Given the description of an element on the screen output the (x, y) to click on. 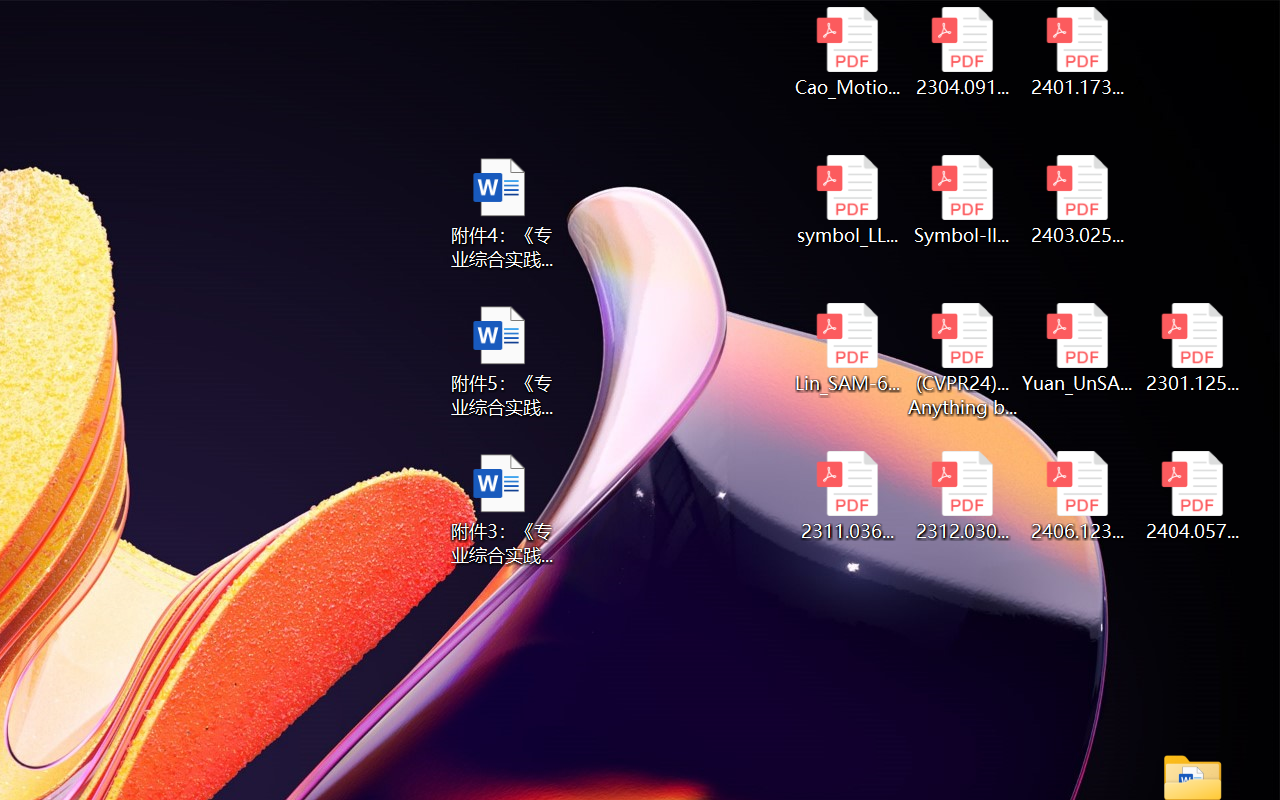
2401.17399v1.pdf (1077, 52)
2403.02502v1.pdf (1077, 200)
